Given the description of an element on the screen output the (x, y) to click on. 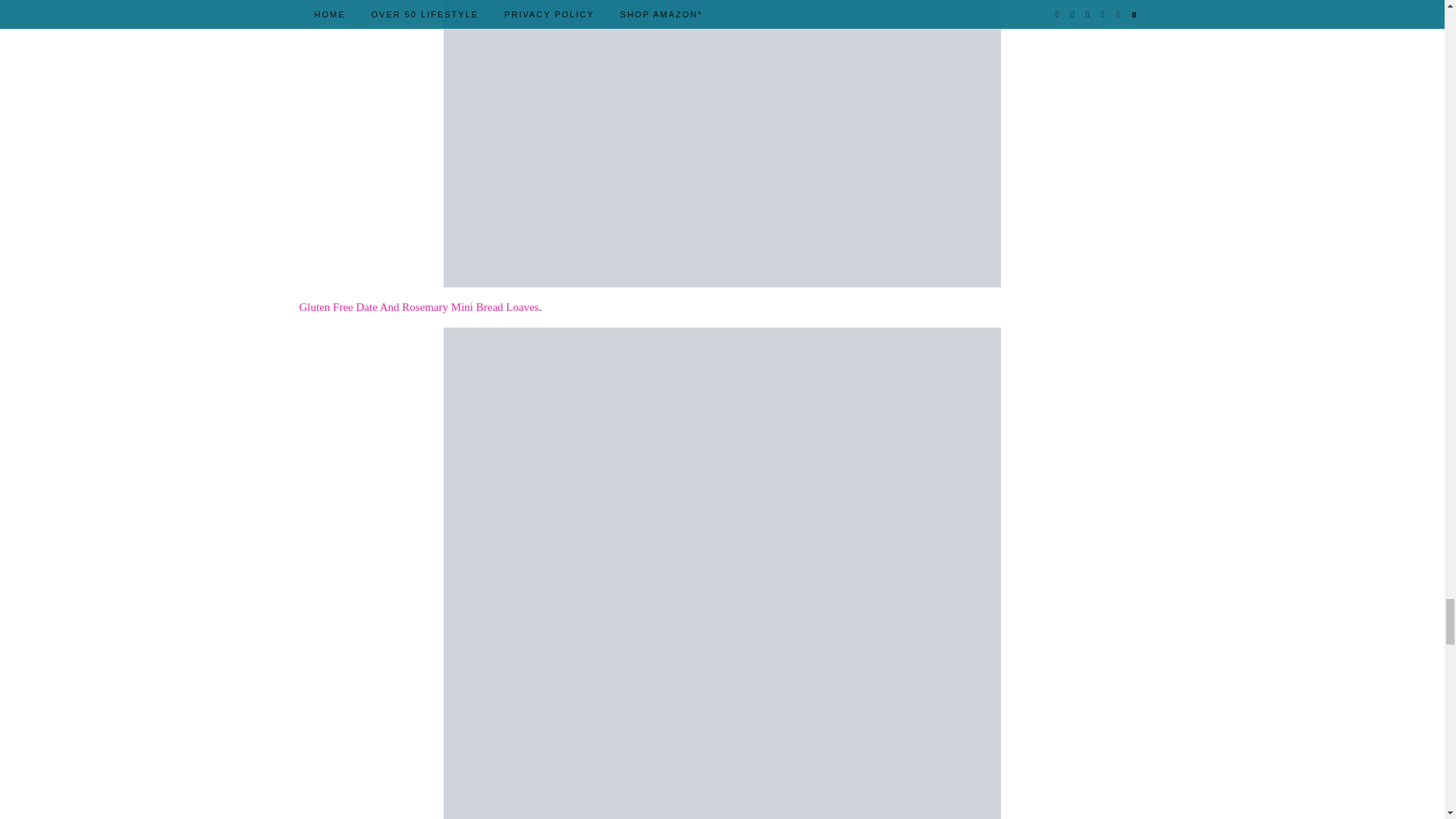
Gluten Free Date And Rosemary Mini Bread Loaves (418, 306)
